Given the description of an element on the screen output the (x, y) to click on. 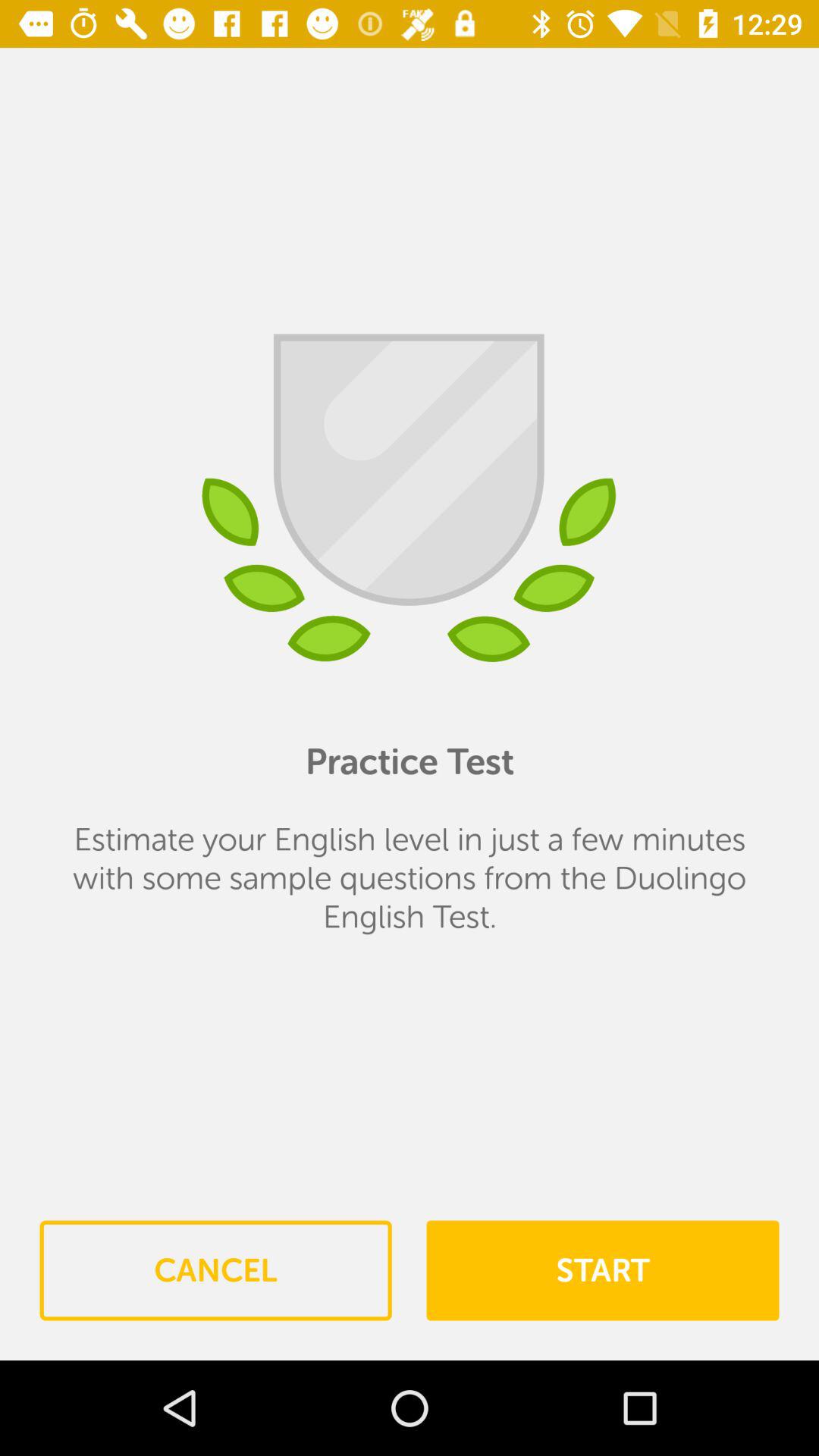
turn on the start icon (602, 1270)
